Given the description of an element on the screen output the (x, y) to click on. 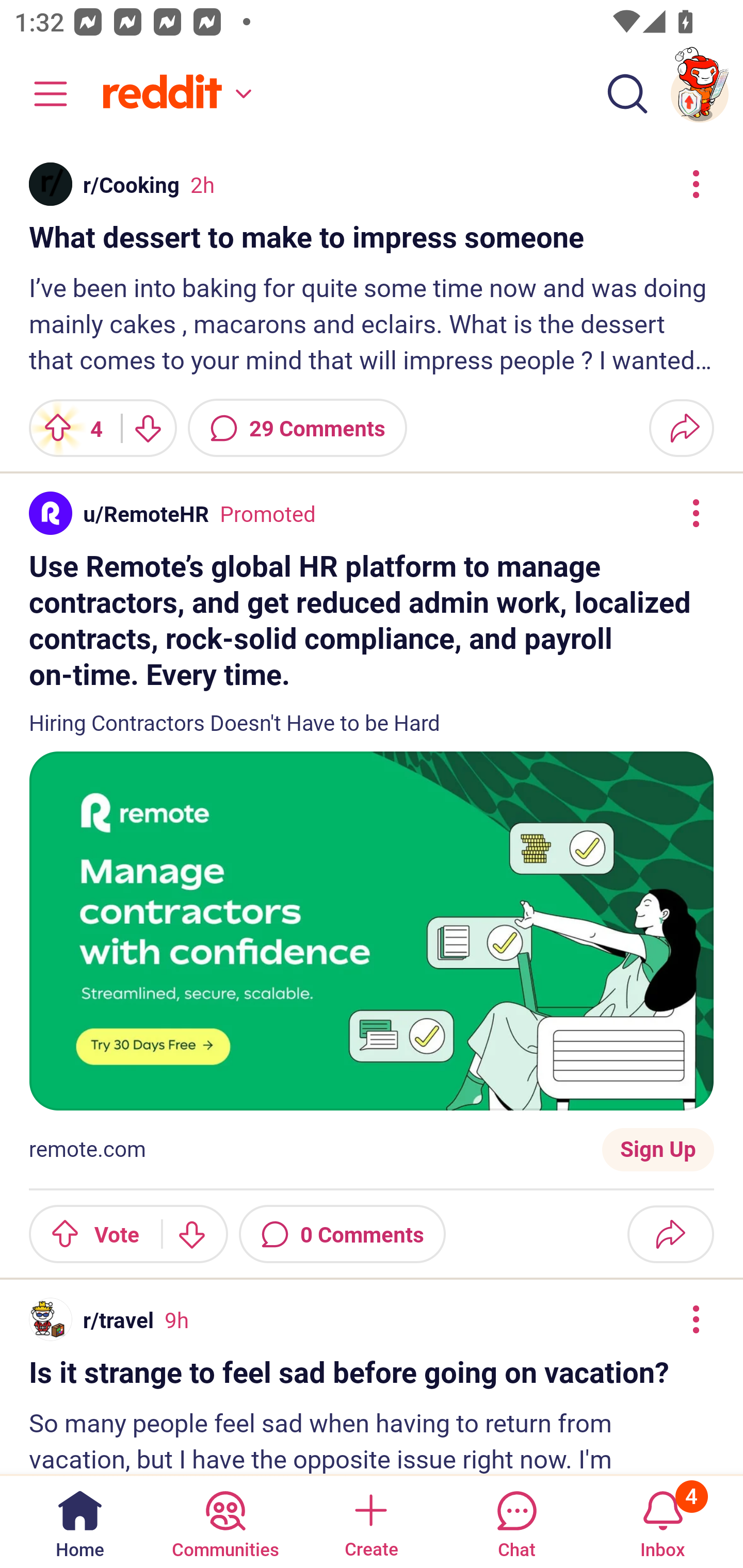
Search (626, 93)
TestAppium002 account (699, 93)
Community menu (41, 94)
Home feed (173, 94)
Home (80, 1520)
Communities (225, 1520)
Create a post Create (370, 1520)
Chat (516, 1520)
Inbox, has 4 notifications 4 Inbox (662, 1520)
